Given the description of an element on the screen output the (x, y) to click on. 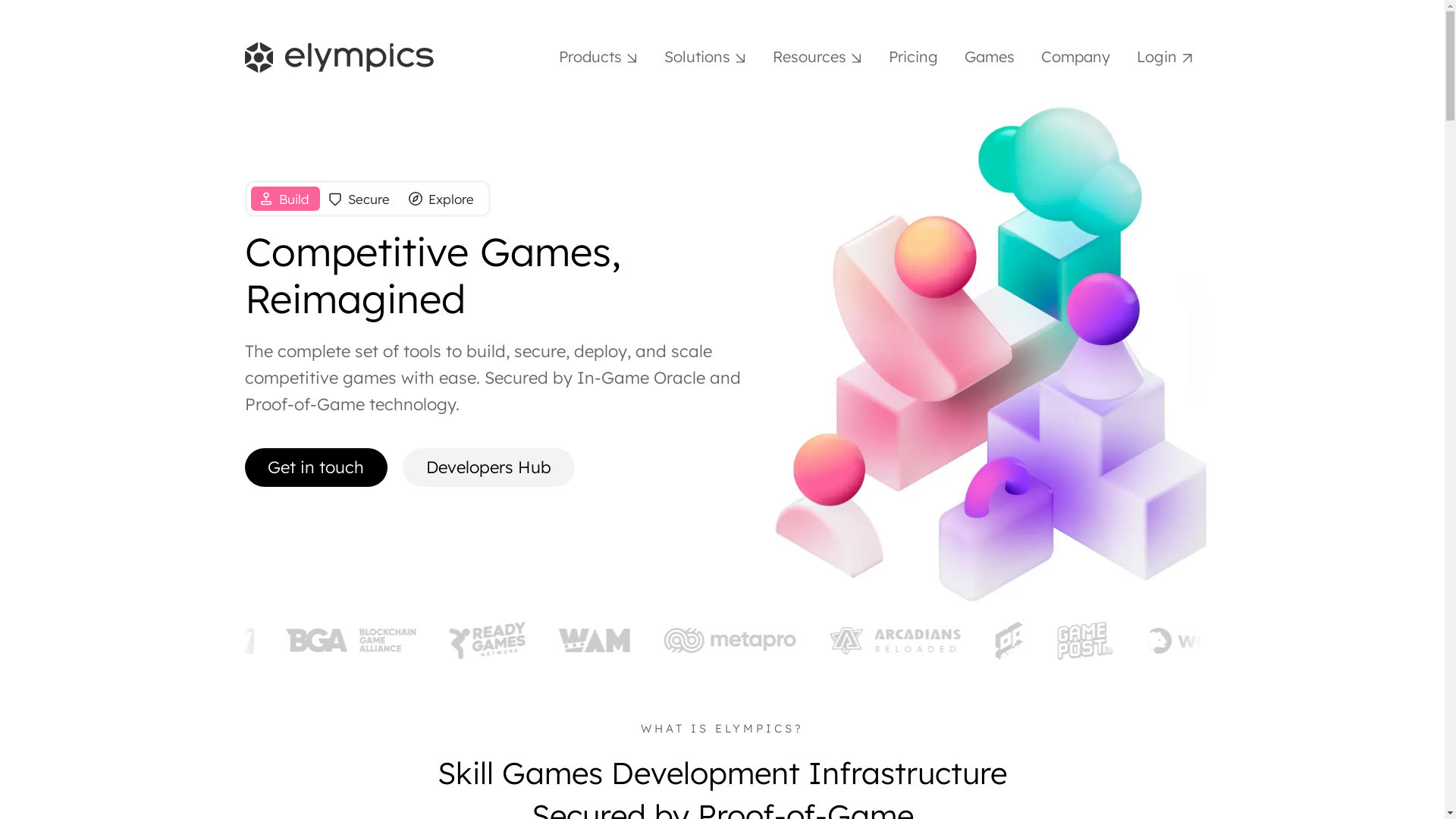
Explore Element type: text (442, 198)
Resources Element type: text (816, 56)
Solutions Element type: text (704, 56)
Games Element type: text (989, 56)
Build Element type: text (284, 198)
Products Element type: text (597, 56)
Secure Element type: text (360, 198)
Login Element type: text (1163, 56)
Developers Hub Element type: text (488, 467)
Company Element type: text (1074, 56)
Get in touch Element type: text (315, 467)
Pricing Element type: text (913, 56)
